Given the description of an element on the screen output the (x, y) to click on. 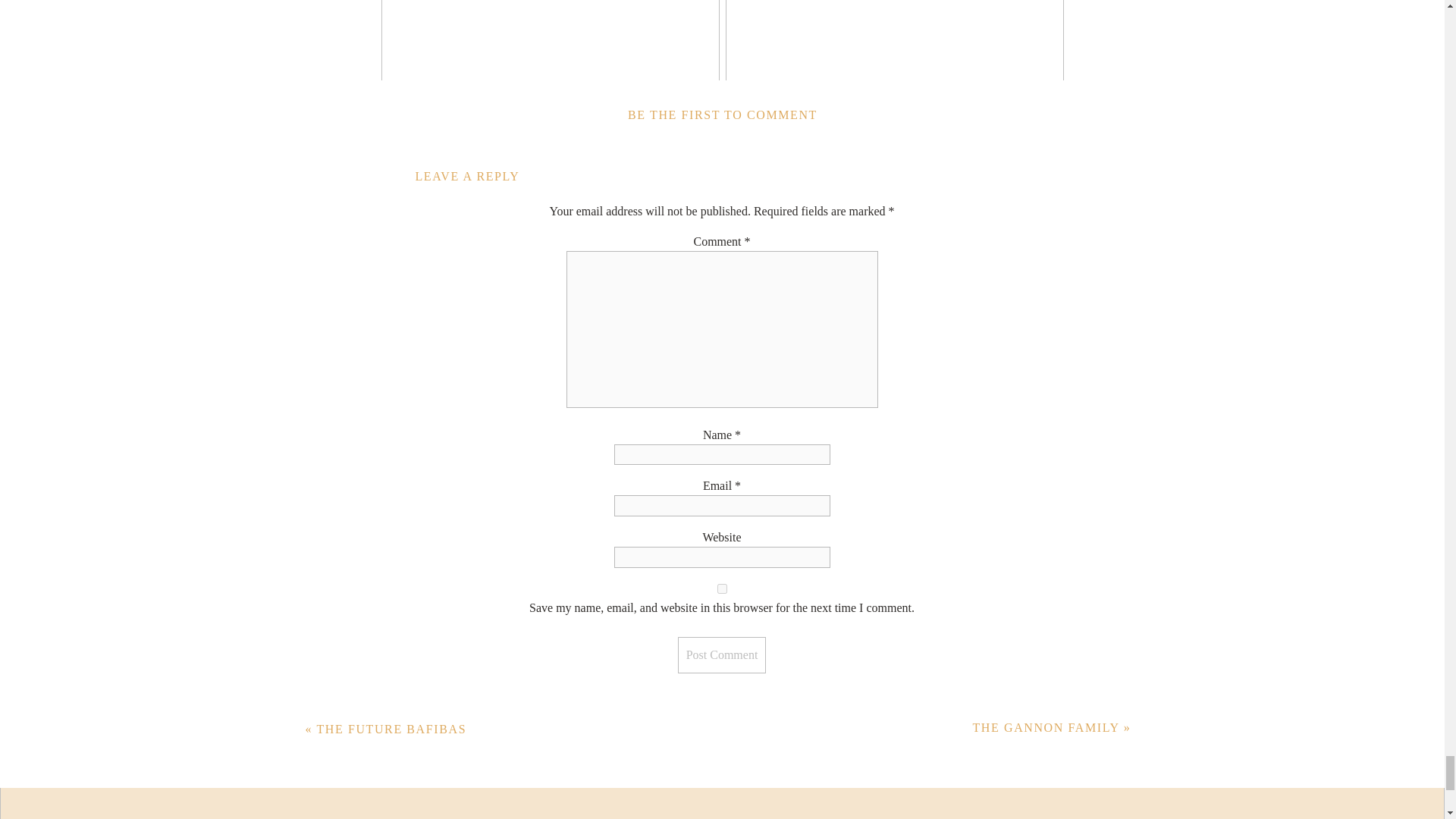
Post Comment (722, 655)
Post Comment (722, 655)
BE THE FIRST TO COMMENT (721, 114)
THE GANNON FAMILY (1045, 727)
yes (721, 588)
THE FUTURE BAFIBAS (390, 728)
